Given the description of an element on the screen output the (x, y) to click on. 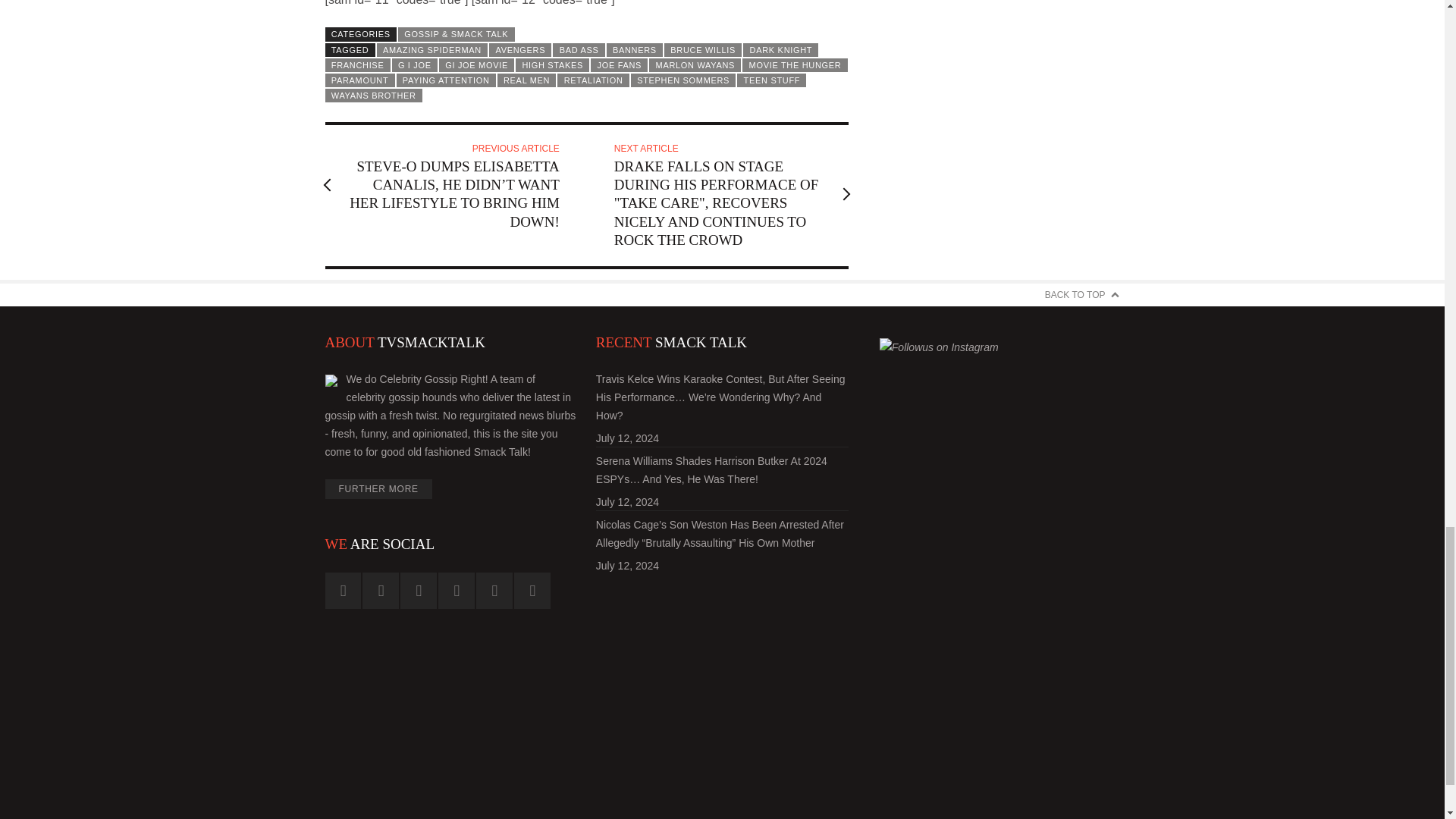
View all posts tagged Banners (634, 49)
View all posts tagged Franchise (357, 65)
View all posts tagged Bad Ass (578, 49)
View all posts tagged Gi Joe Movie (476, 65)
View all posts tagged G I Joe (414, 65)
View all posts tagged Amazing Spiderman (432, 49)
View all posts tagged Avengers (520, 49)
View all posts tagged Joe Fans (619, 65)
View all posts tagged High Stakes (552, 65)
View all posts tagged Dark Knight (780, 49)
